Given the description of an element on the screen output the (x, y) to click on. 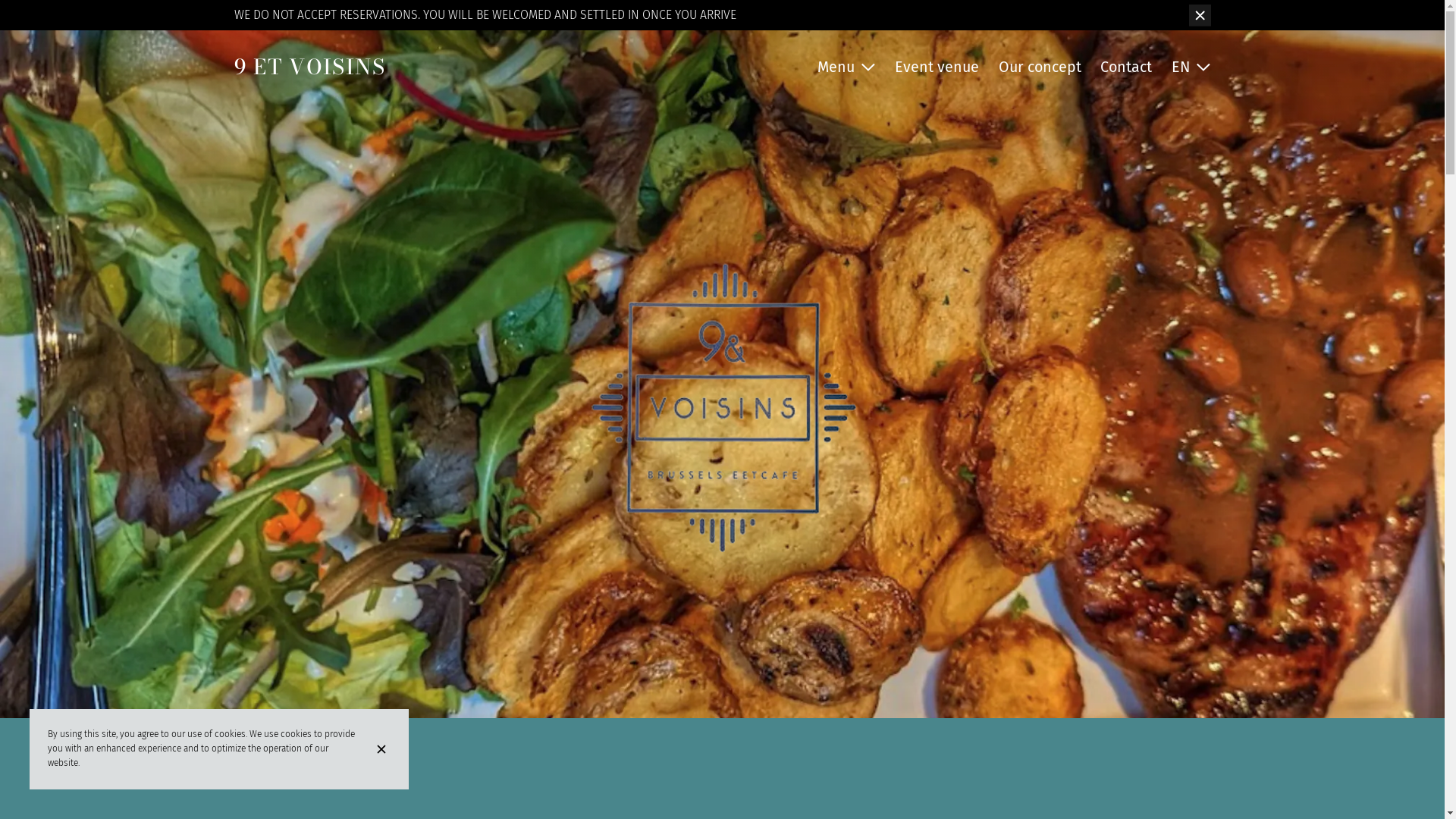
Contact Element type: text (1125, 66)
Event venue Element type: text (936, 66)
Our concept Element type: text (1039, 66)
Close the cookie information banner Element type: hover (383, 748)
Picture of 9 et Voisins Element type: hover (722, 359)
EN Element type: text (1191, 67)
Menu Element type: text (846, 67)
9 ET VOISINS
9 ET VOISINS Element type: text (308, 67)
